Given the description of an element on the screen output the (x, y) to click on. 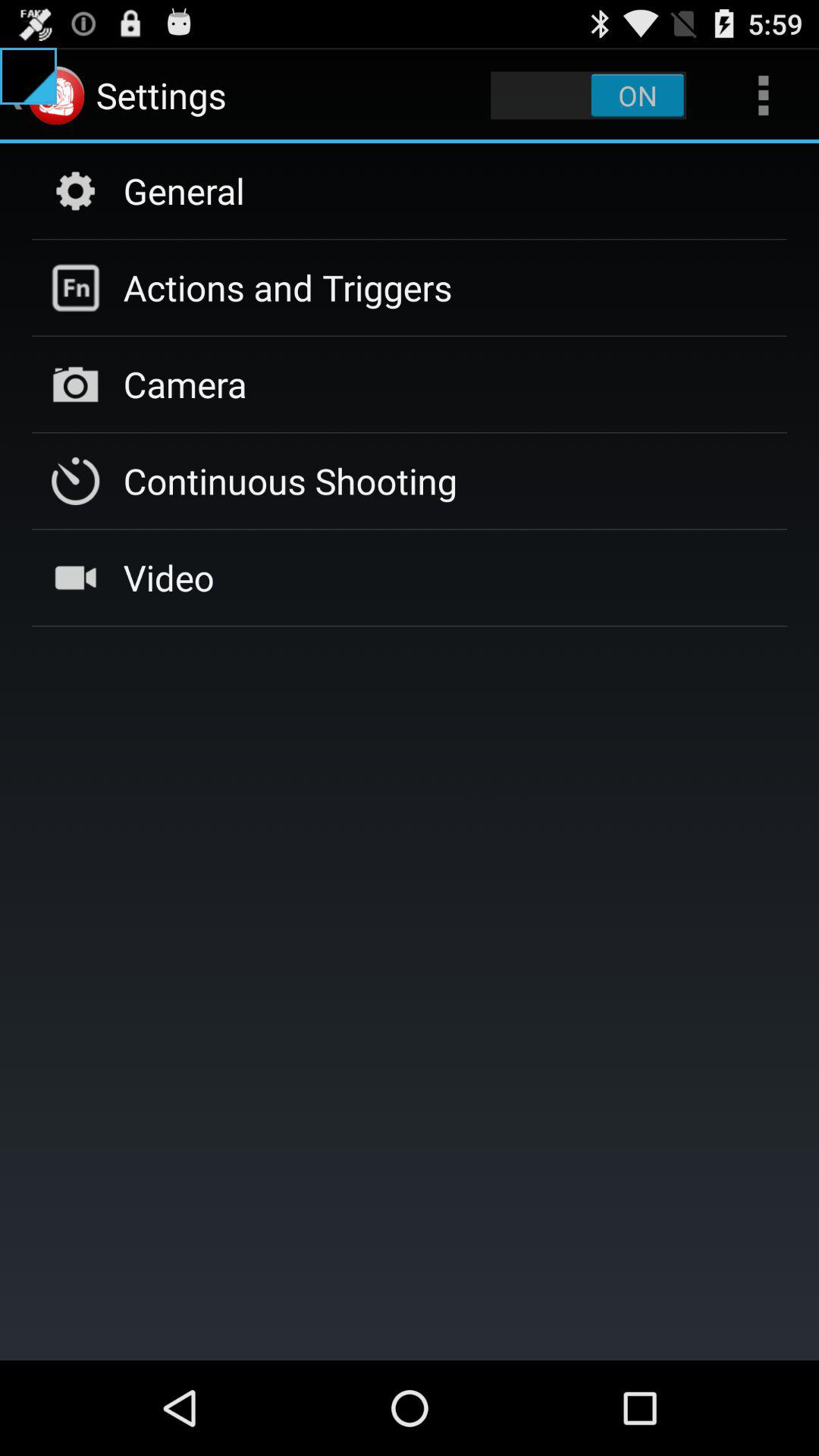
click camera (184, 384)
